Given the description of an element on the screen output the (x, y) to click on. 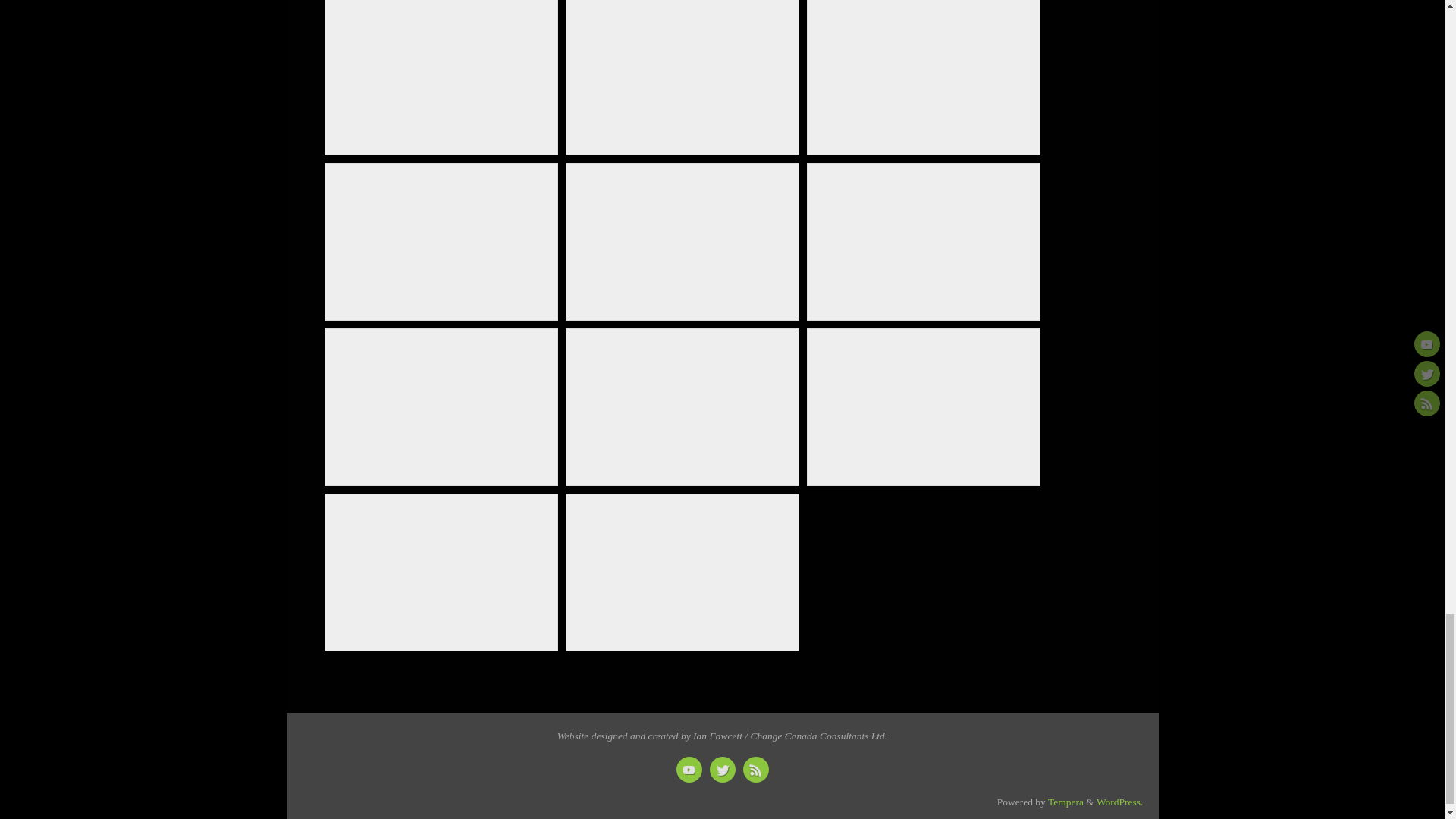
Twitter (722, 769)
Semantic Personal Publishing Platform (1119, 801)
YouTube (689, 769)
Tempera Theme by Cryout Creations (1065, 801)
RSS (755, 769)
